Given the description of an element on the screen output the (x, y) to click on. 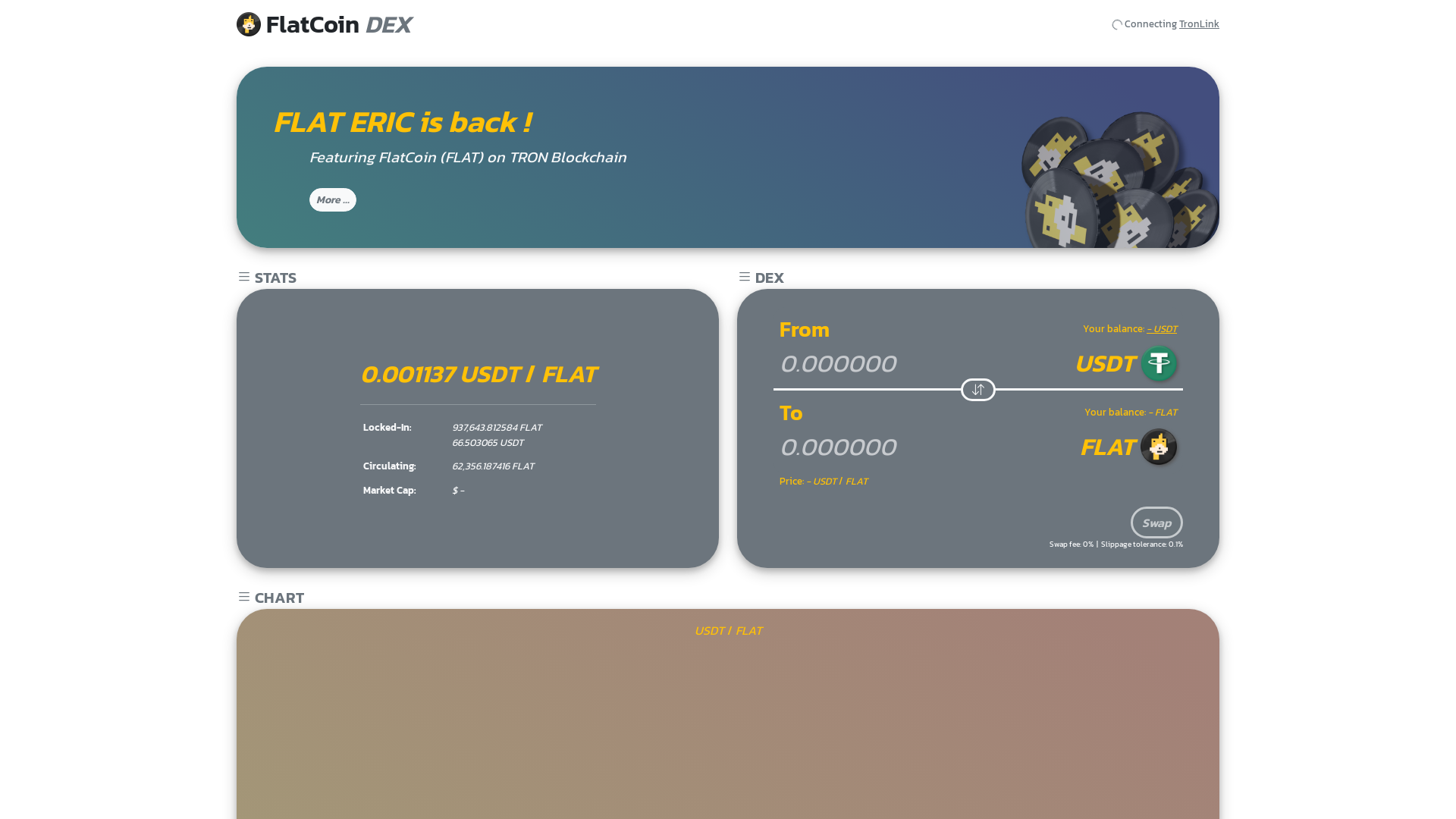
- USDT Element type: text (1161, 328)
More ... Element type: text (332, 199)
Swap Element type: text (1156, 522)
TronLink Element type: text (1199, 23)
